Given the description of an element on the screen output the (x, y) to click on. 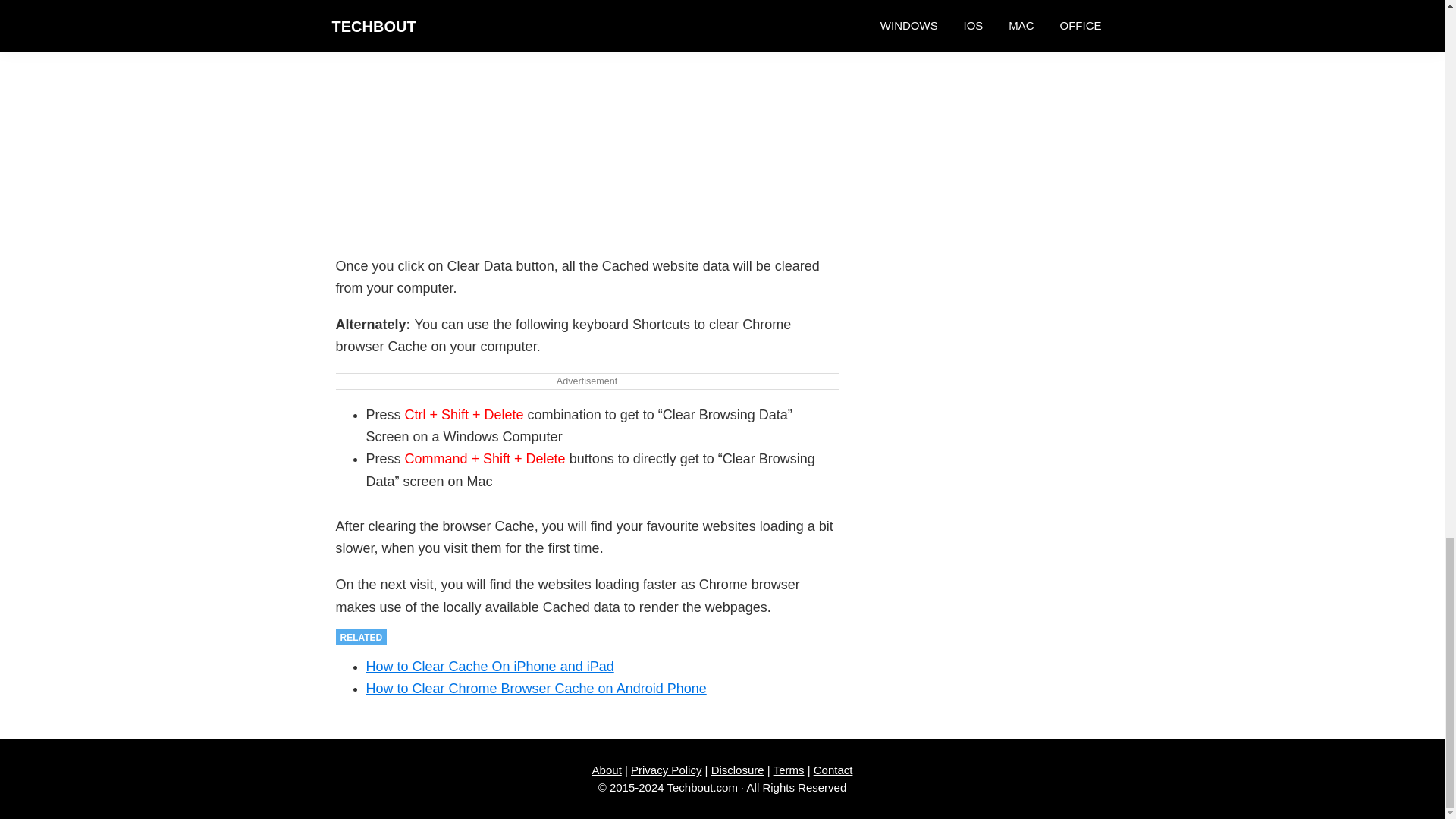
How to Clear Chrome Browser Cache on Android Phone (535, 688)
About (606, 769)
How to Clear Cache On iPhone and iPad (488, 666)
Contact (833, 769)
Disclosure (737, 769)
Clear Chrome Browser Cache (586, 116)
Privacy Policy (665, 769)
Terms (789, 769)
